Given the description of an element on the screen output the (x, y) to click on. 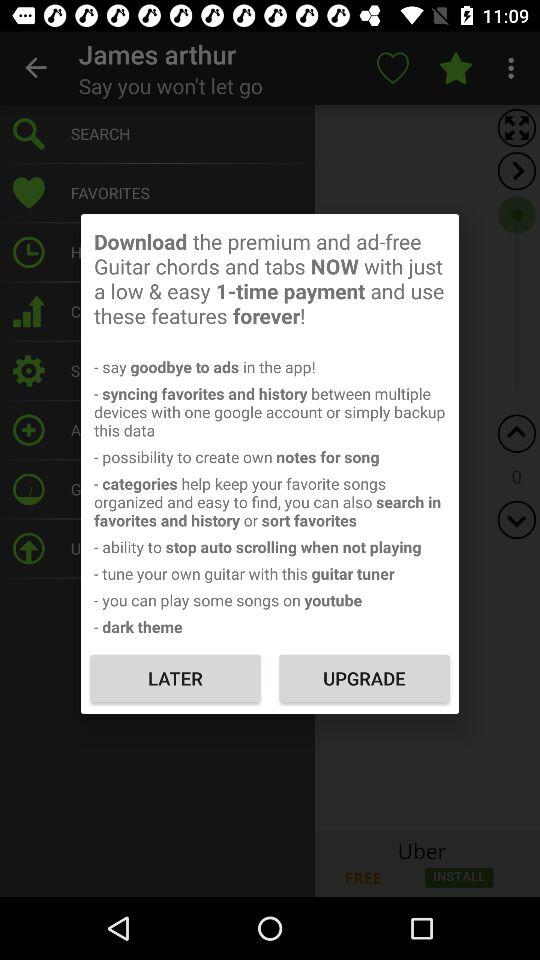
press upgrade at the bottom right corner (364, 677)
